Given the description of an element on the screen output the (x, y) to click on. 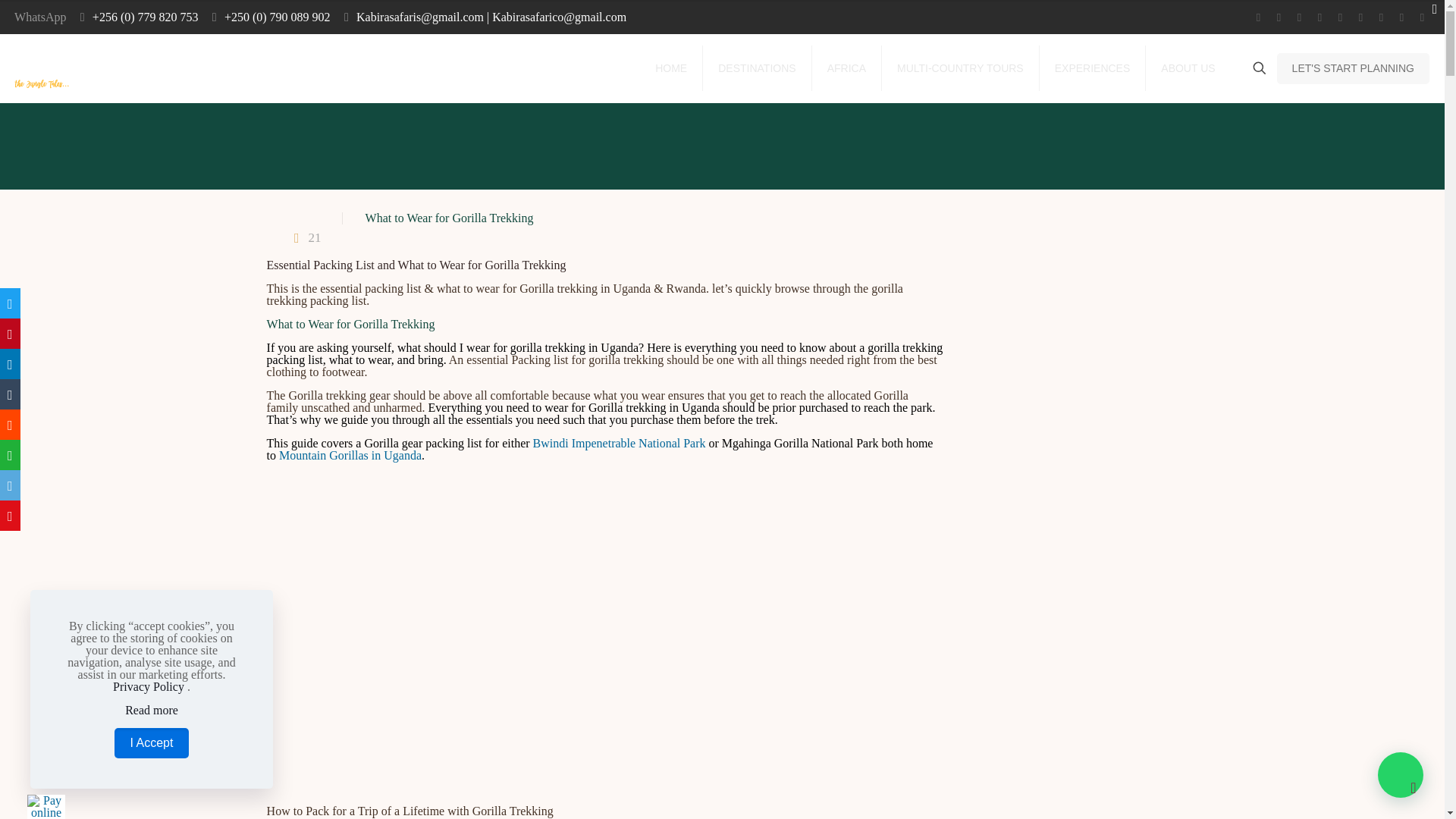
Instagram (1381, 17)
DESTINATIONS (756, 68)
TripAdvisor (1421, 17)
HOME (671, 68)
Twitter (1279, 17)
YouTube (1319, 17)
LinkedIn (1340, 17)
Vimeo (1299, 17)
Tumblr (1401, 17)
Facebook (1258, 17)
